Given the description of an element on the screen output the (x, y) to click on. 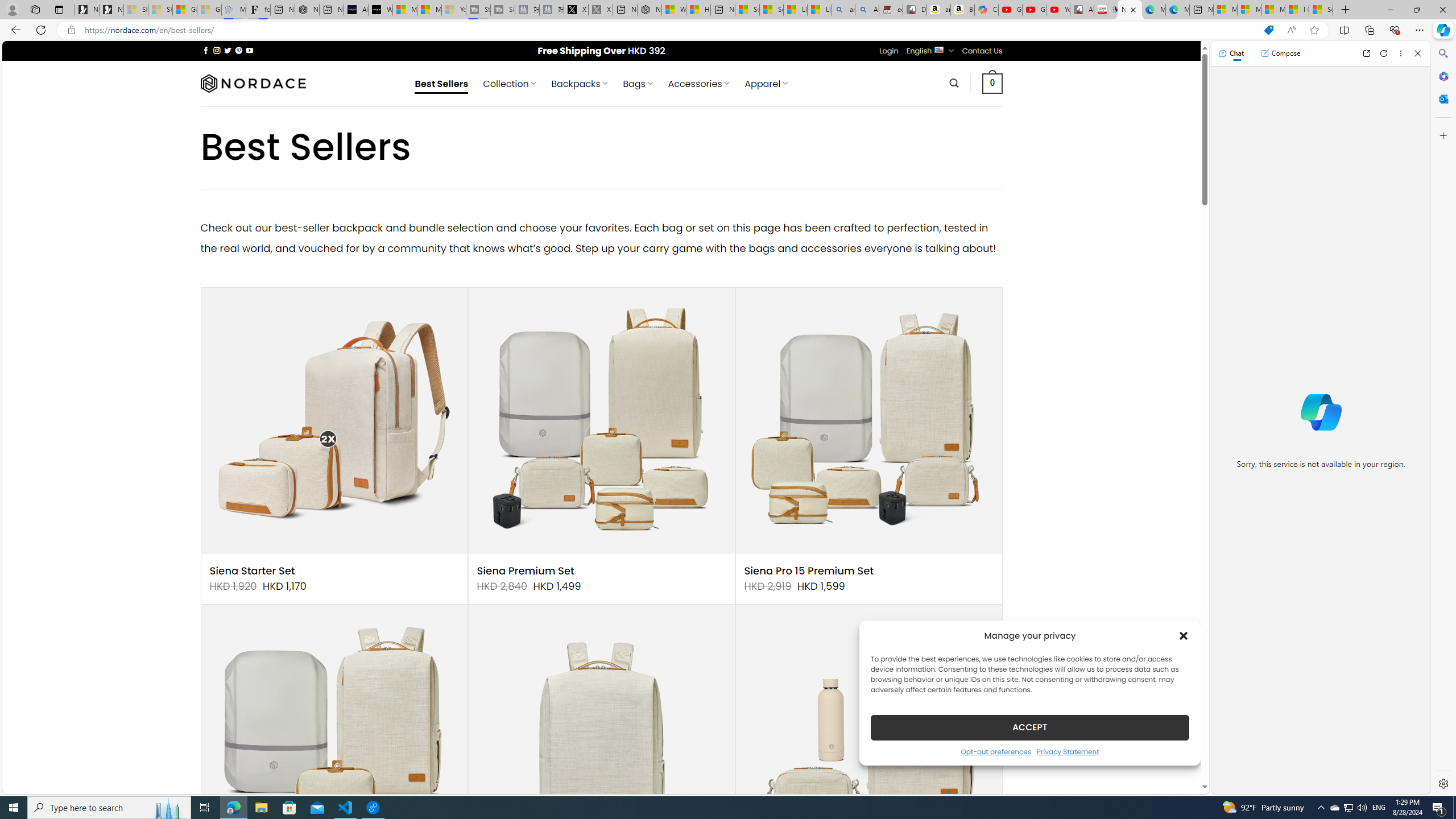
Siena Premium Set (525, 571)
Chat (1231, 52)
